Given the description of an element on the screen output the (x, y) to click on. 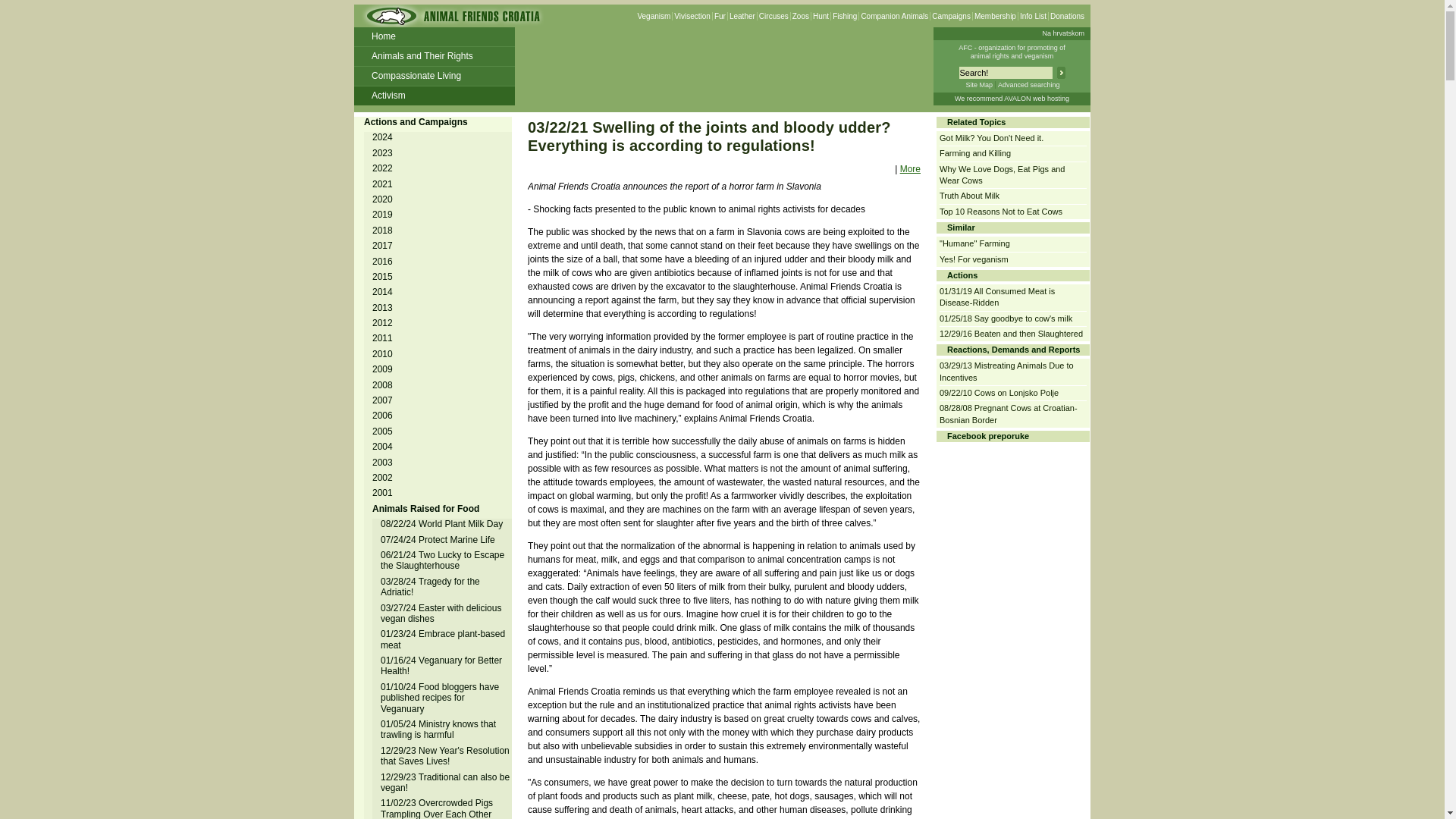
Circuses (773, 16)
2021 (383, 184)
Info List (1033, 16)
Animals and Their Rights (434, 56)
2012 (383, 322)
Site Map (978, 84)
Activism (434, 95)
2018 (383, 230)
Home (434, 36)
2015 (383, 276)
